Given the description of an element on the screen output the (x, y) to click on. 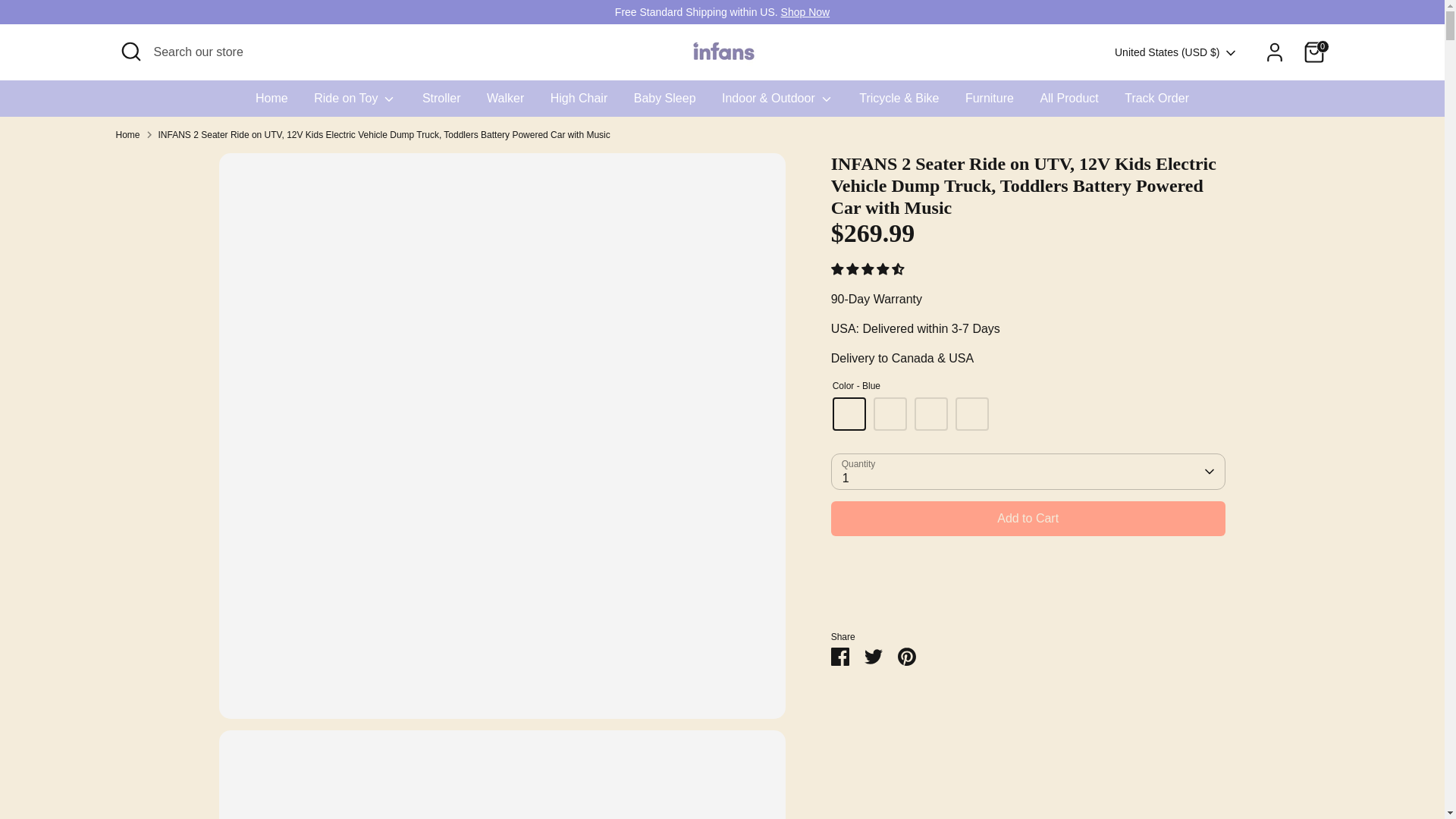
Shop Now (804, 11)
All products (804, 11)
0 (1312, 51)
